Given the description of an element on the screen output the (x, y) to click on. 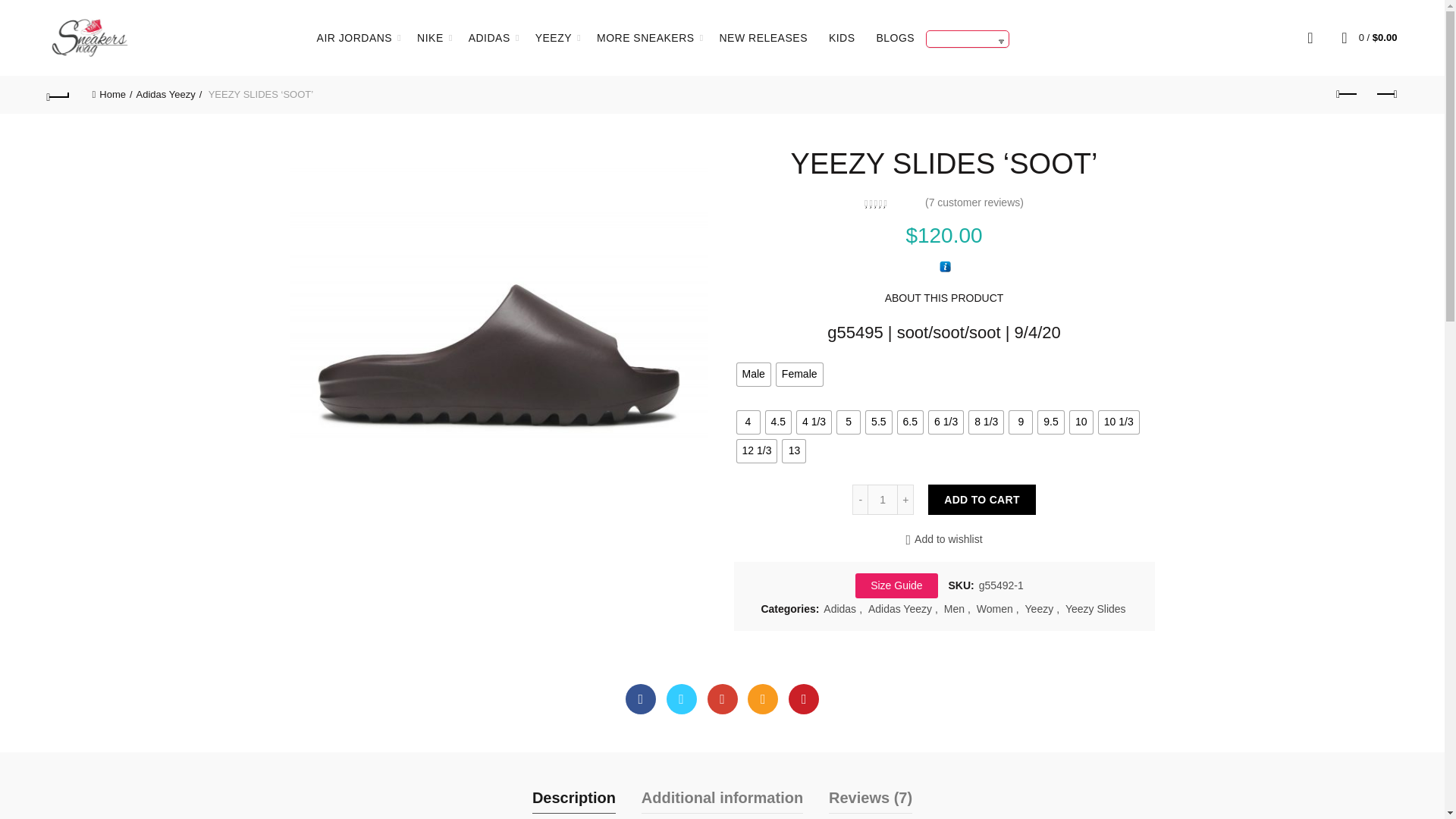
9 (1020, 422)
5 (848, 422)
4.5 (777, 422)
1 (882, 499)
4 (748, 422)
1 (497, 292)
9.5 (1050, 422)
Male (753, 374)
6.5 (910, 422)
Female (799, 374)
5.5 (878, 422)
